Given the description of an element on the screen output the (x, y) to click on. 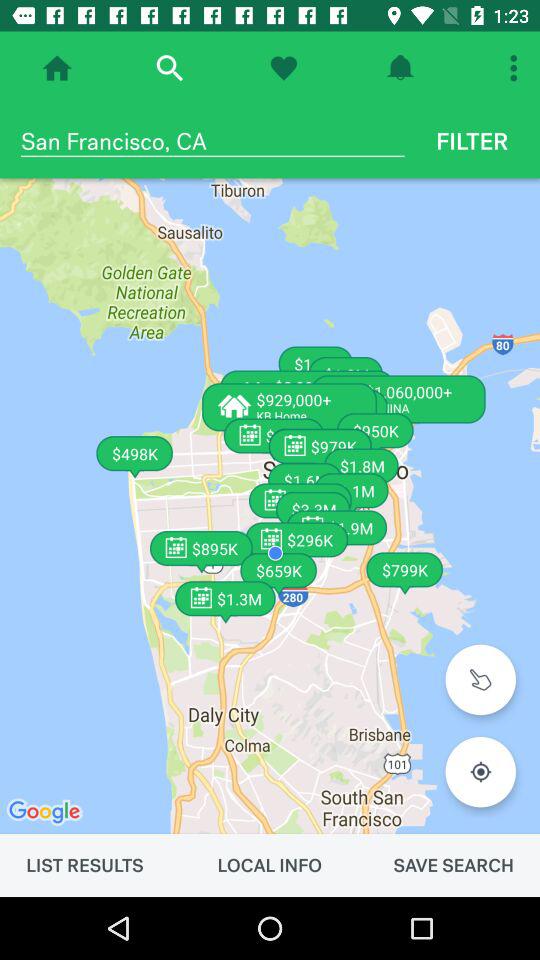
click the icon above the list results (270, 505)
